Given the description of an element on the screen output the (x, y) to click on. 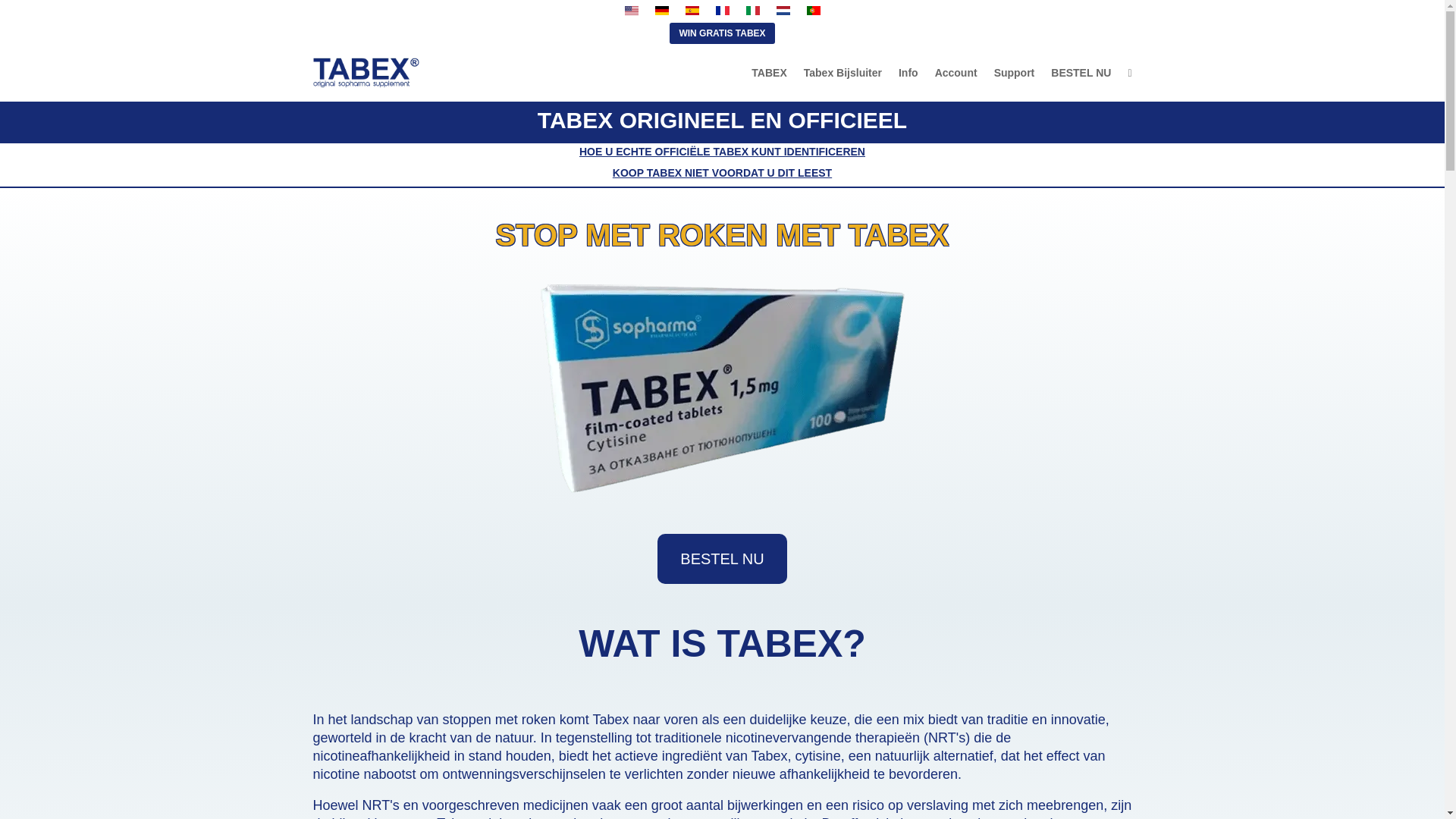
German (661, 10)
Tabex Bijsluiter (842, 72)
BESTEL NU (1080, 72)
BESTEL NU (722, 558)
Dutch (783, 10)
WIN GRATIS TABEX (721, 33)
Italian (752, 10)
French (722, 10)
Spanish (691, 10)
English (631, 10)
